Given the description of an element on the screen output the (x, y) to click on. 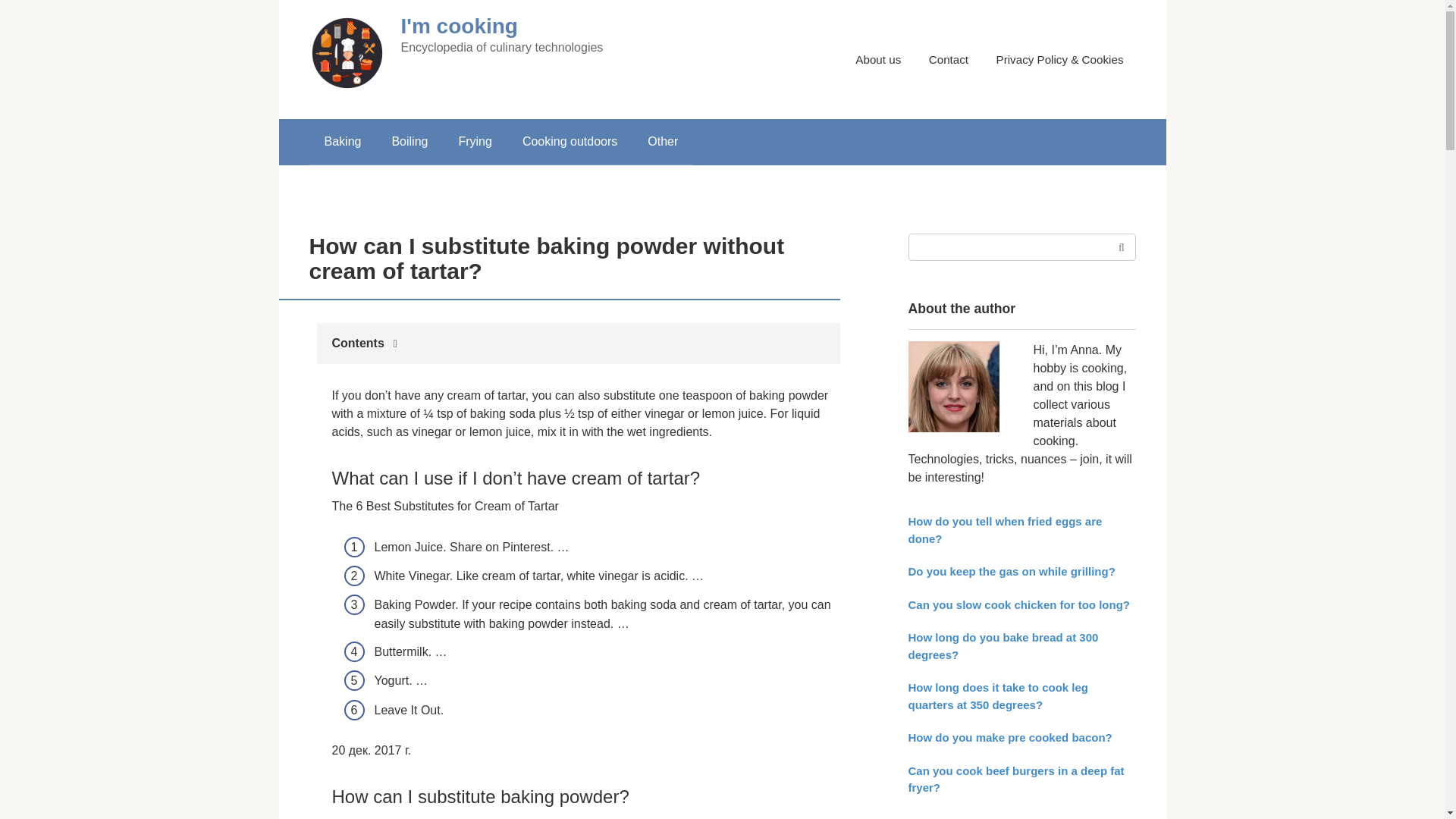
Boiling (408, 141)
I'm cooking (458, 25)
Other (662, 141)
Frying (474, 141)
About us (878, 59)
Contact (948, 59)
Baking (342, 141)
